Given the description of an element on the screen output the (x, y) to click on. 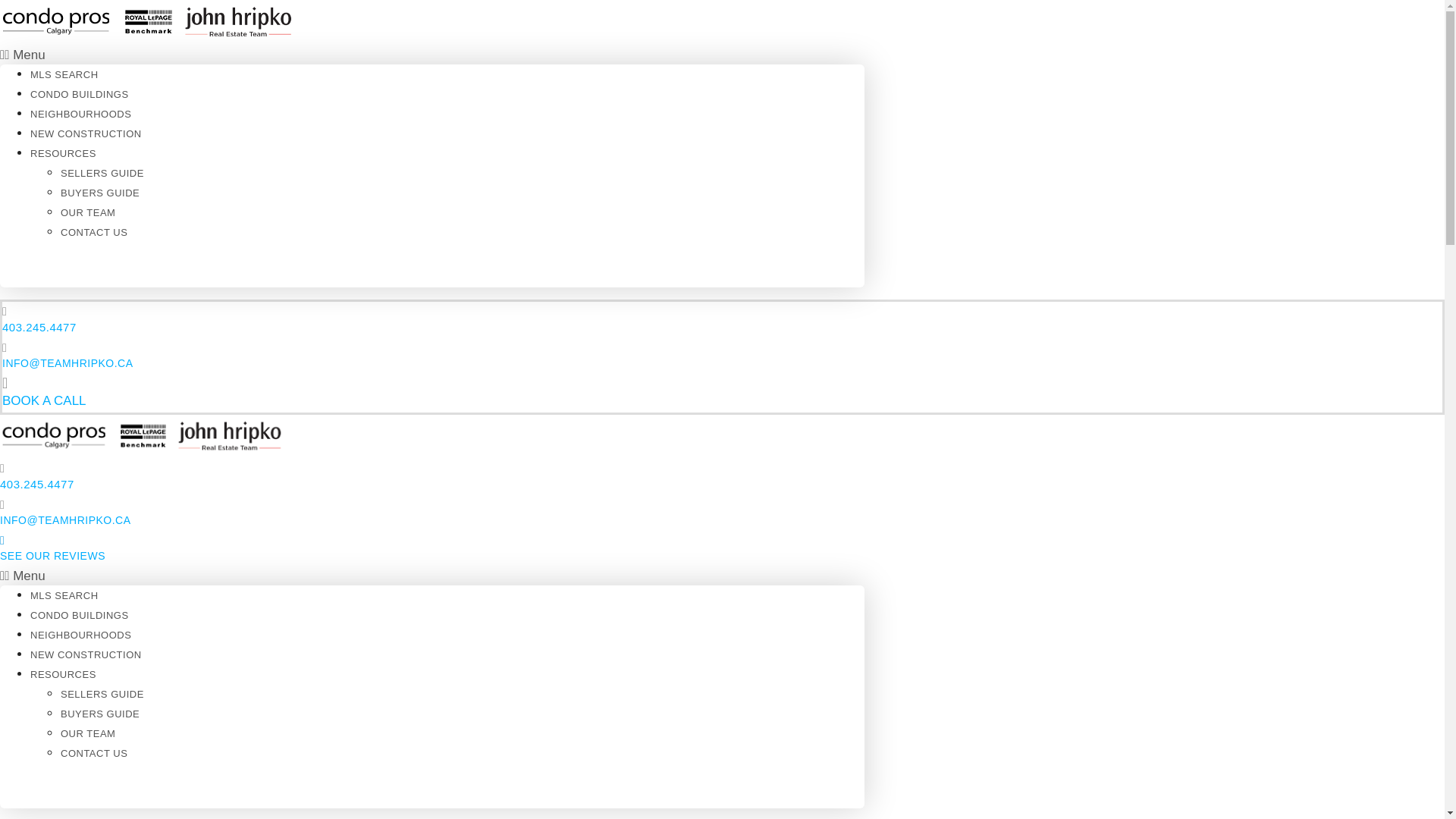
NEW CONSTRUCTION (85, 654)
OUR TEAM (88, 733)
NEW CONSTRUCTION (85, 133)
403.245.4477 (37, 483)
CONTACT US (94, 232)
SEE OUR REVIEWS (52, 555)
SELLERS GUIDE (102, 173)
CONDO BUILDINGS (79, 93)
RESOURCES (63, 153)
BUYERS GUIDE (100, 193)
